Given the description of an element on the screen output the (x, y) to click on. 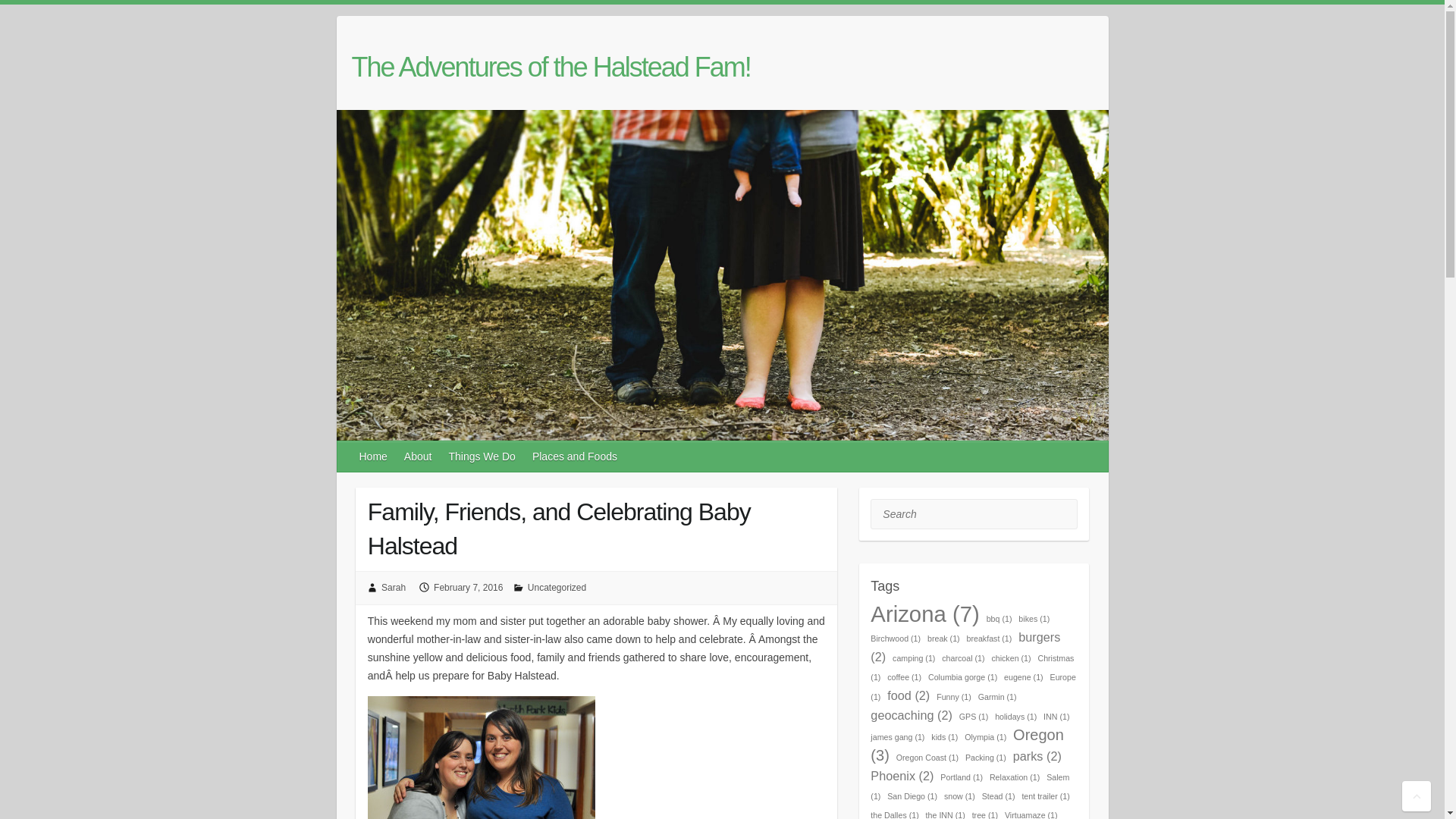
February 7, 2016 (467, 587)
Sarah (393, 587)
The Adventures of the Halstead Fam! (551, 67)
Home (374, 456)
Things We Do (482, 456)
Uncategorized (556, 587)
Places and Foods (575, 456)
About (418, 456)
The Adventures of the Halstead Fam! (551, 67)
